Given the description of an element on the screen output the (x, y) to click on. 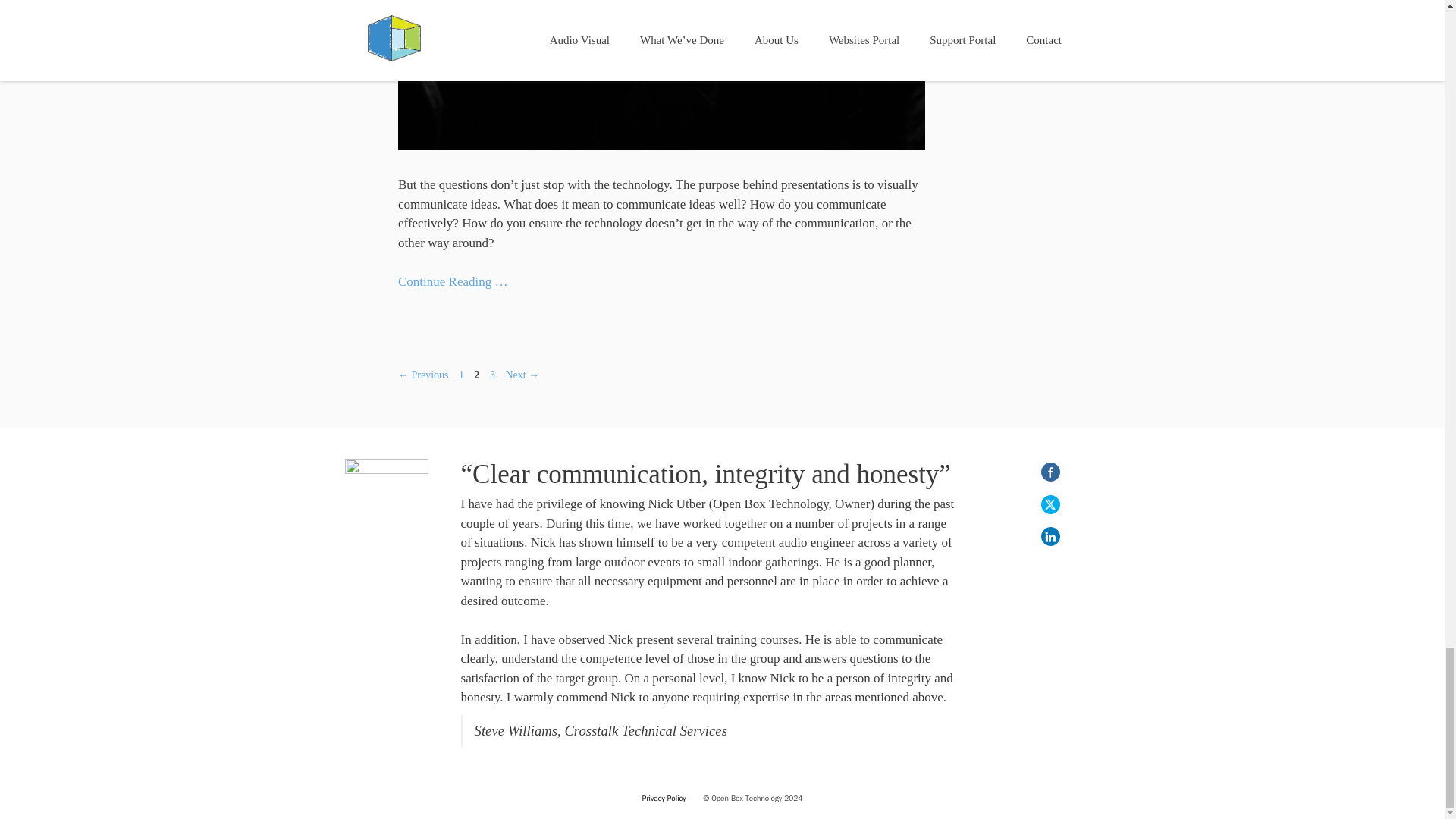
Visit our Twitter (1050, 503)
Visit our LinkedIn (1050, 536)
Visit our Facebook (1050, 471)
